Given the description of an element on the screen output the (x, y) to click on. 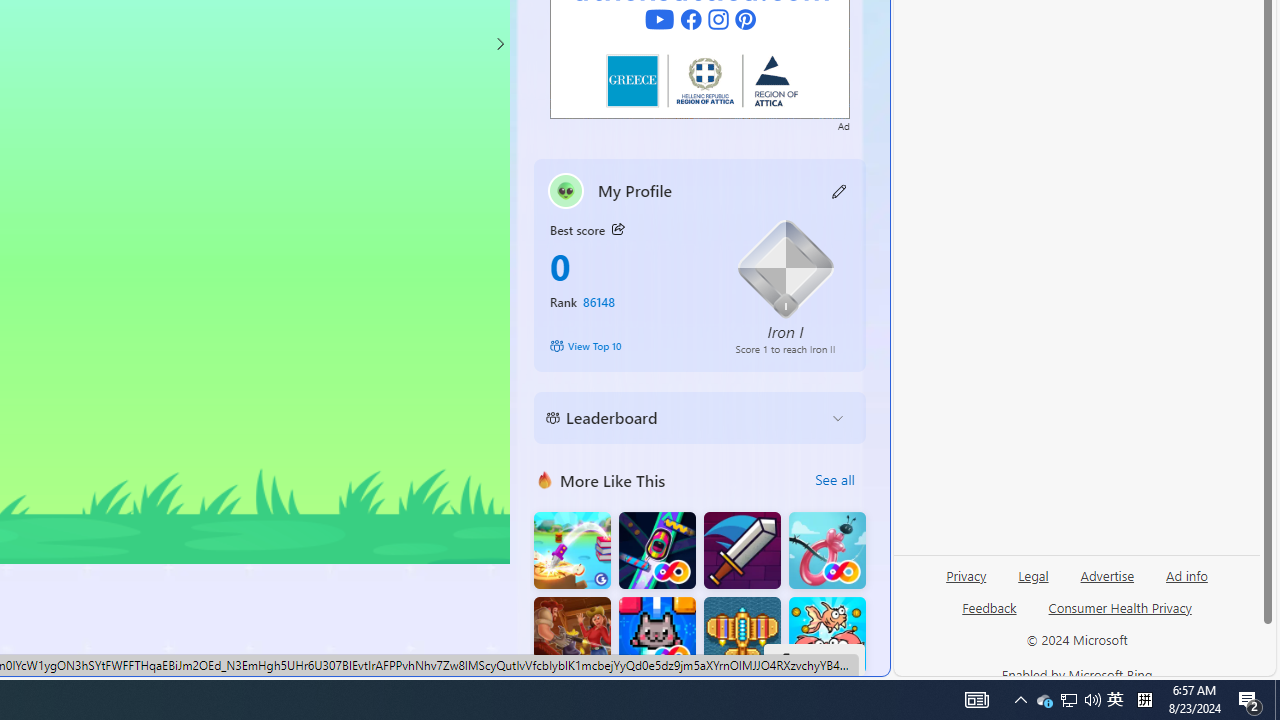
Bumper Car FRVR (657, 550)
Class: control (499, 43)
See all (834, 479)
Class: button edit-icon (839, 190)
Fish Merge FRVR (827, 635)
Atlantic Sky Hunter (742, 635)
Balloon FRVR (827, 550)
